Given the description of an element on the screen output the (x, y) to click on. 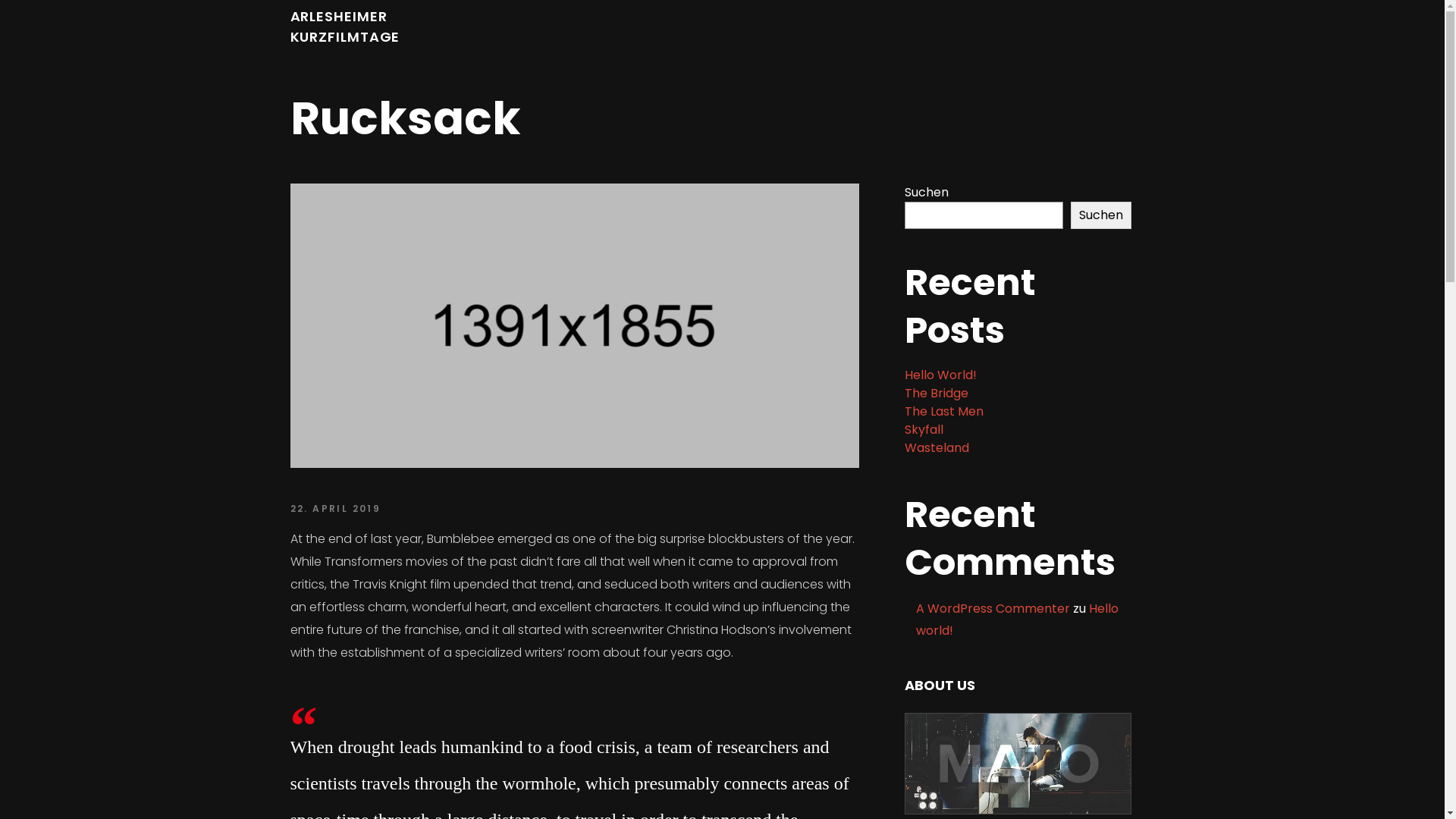
Hello World! Element type: text (939, 374)
ARLESHEIMER KURZFILMTAGE Element type: text (344, 26)
Hello world! Element type: text (1017, 619)
The Last Men Element type: text (942, 411)
Wasteland Element type: text (935, 447)
Skyfall Element type: text (922, 429)
Suchen Element type: text (1100, 215)
A WordPress Commenter Element type: text (993, 608)
The Bridge Element type: text (935, 392)
